Given the description of an element on the screen output the (x, y) to click on. 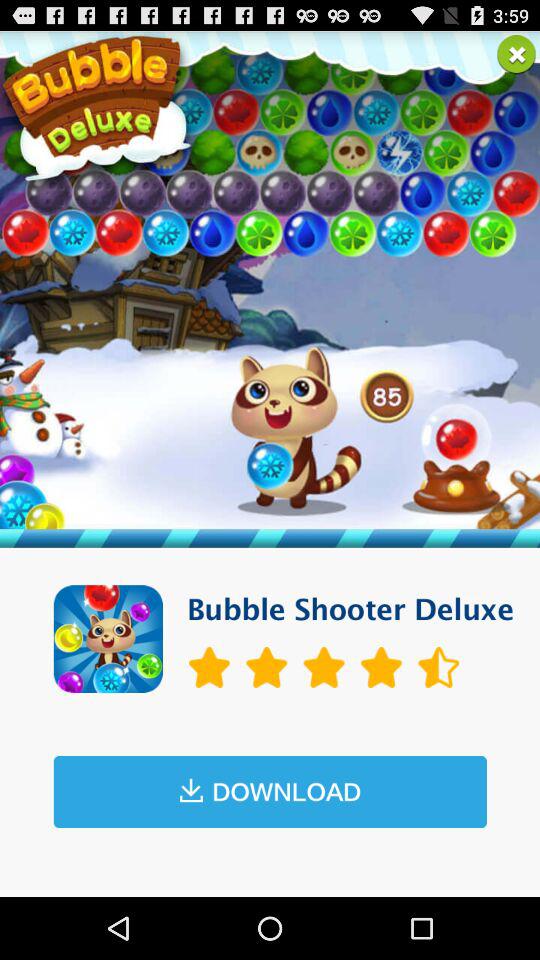
close this entry (516, 54)
